Given the description of an element on the screen output the (x, y) to click on. 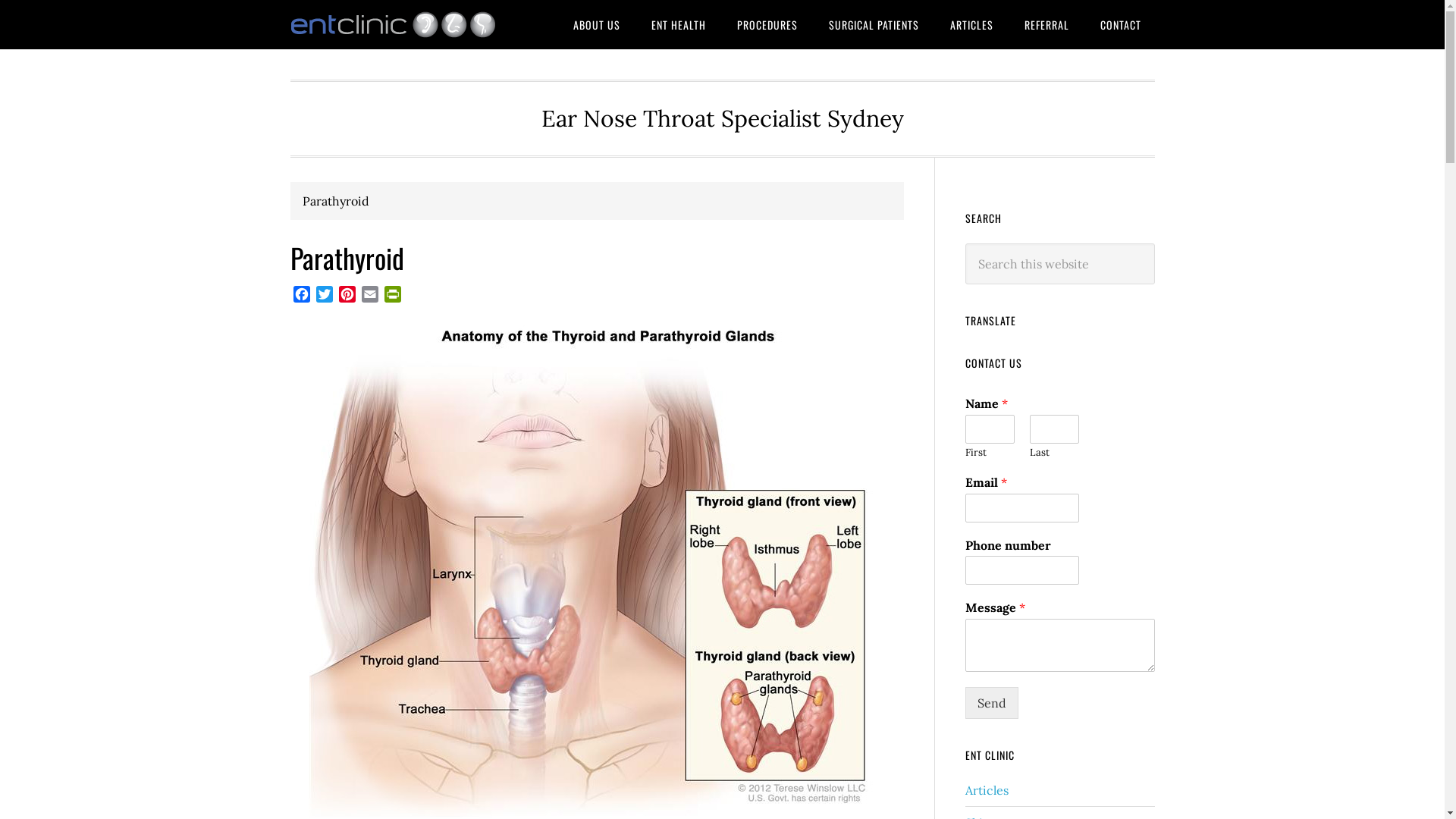
Articles Element type: text (985, 789)
CONTACT Element type: text (1119, 24)
ABOUT US Element type: text (596, 24)
ENT HEALTH Element type: text (677, 24)
REFERRAL Element type: text (1046, 24)
PROCEDURES Element type: text (767, 24)
PrintFriendly Element type: text (391, 295)
ENT CLINIC SYDNEY Element type: text (410, 24)
Search Element type: text (1154, 242)
SURGICAL PATIENTS Element type: text (872, 24)
Pinterest Element type: text (346, 295)
Send Element type: text (990, 702)
parathyroid Element type: hover (592, 568)
Facebook Element type: text (300, 295)
Email Element type: text (368, 295)
Twitter Element type: text (323, 295)
ARTICLES Element type: text (970, 24)
